Given the description of an element on the screen output the (x, y) to click on. 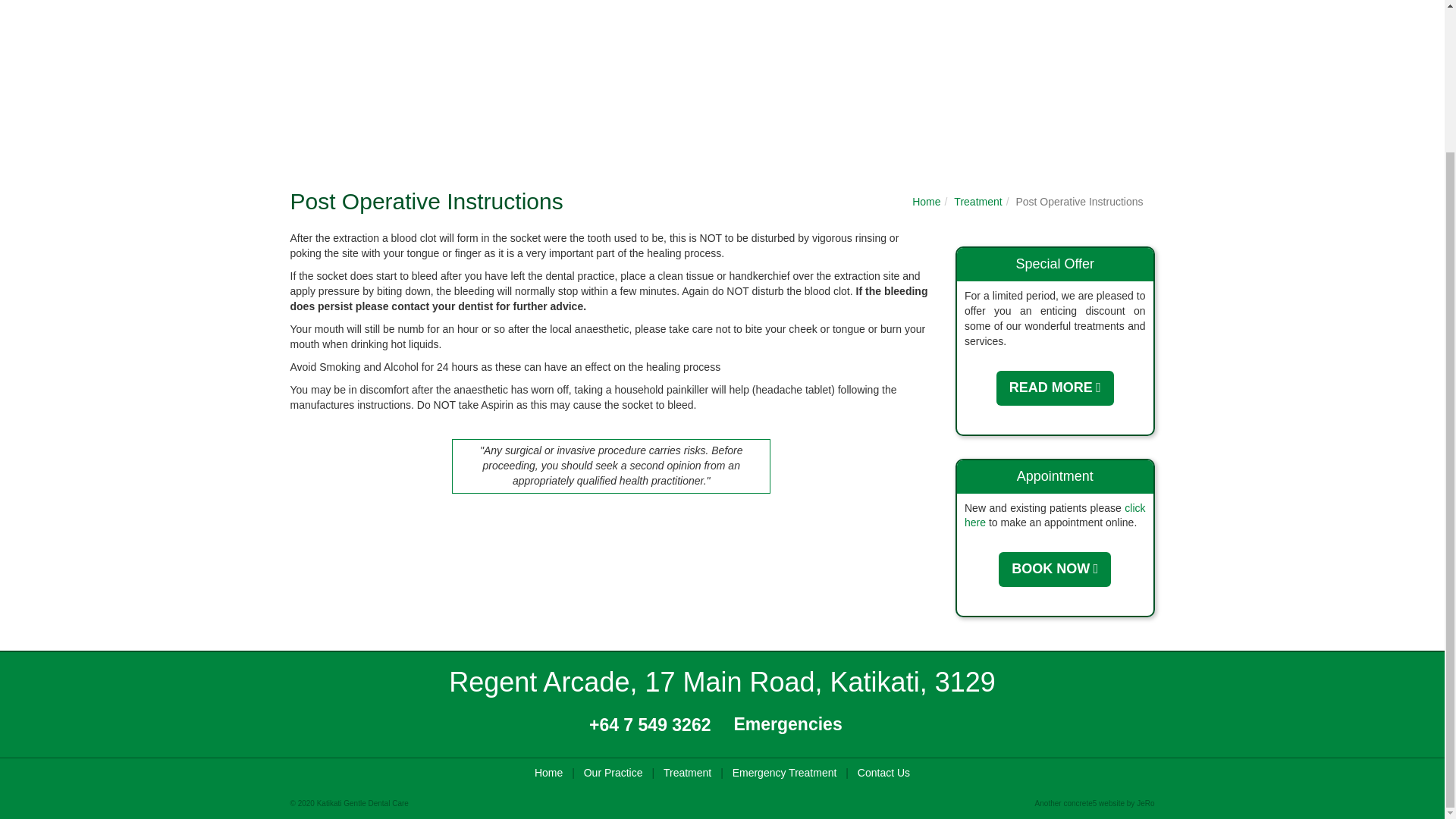
Regent Arcade, 17 Main Road, Katikati, 3129 (721, 681)
Treatment (977, 201)
Home (926, 201)
READ MORE (1054, 387)
Home (548, 773)
click here (1054, 515)
Emergencies (788, 723)
Emergency Treatment (784, 773)
Treatment (687, 773)
concrete5 website (1093, 803)
